Given the description of an element on the screen output the (x, y) to click on. 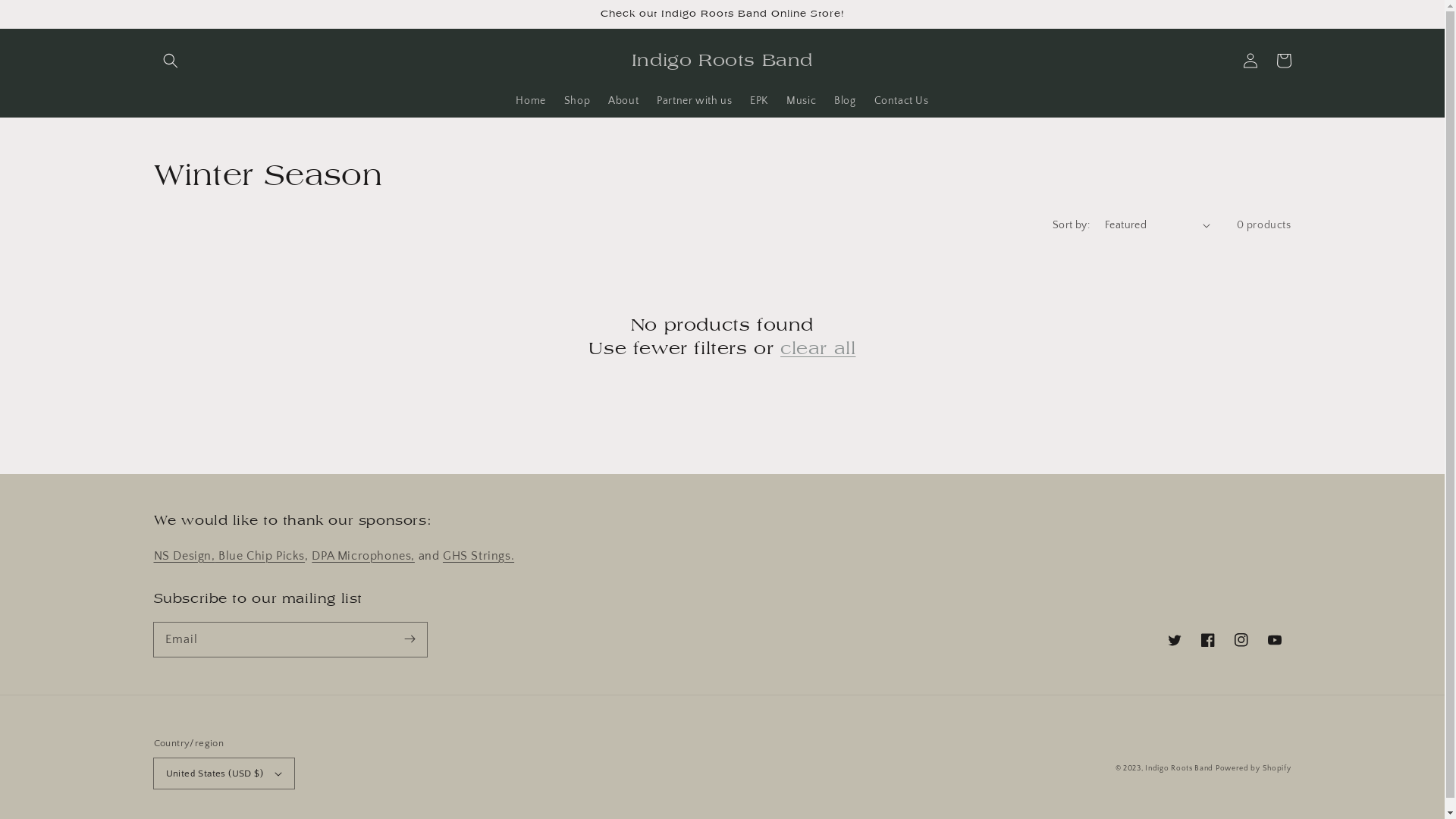
United States (USD $) Element type: text (223, 773)
Twitter Element type: text (1173, 639)
About Element type: text (623, 100)
NS Design, Element type: text (183, 555)
Partner with us Element type: text (693, 100)
Powered by Shopify Element type: text (1253, 768)
Shop Element type: text (577, 100)
Indigo Roots Band Element type: text (1180, 768)
clear all Element type: text (817, 348)
Instagram Element type: text (1240, 639)
GHS Strings. Element type: text (478, 555)
Facebook Element type: text (1206, 639)
YouTube Element type: text (1273, 639)
Cart Element type: text (1282, 60)
EPK Element type: text (758, 100)
Blog Element type: text (844, 100)
DPA Microphones, Element type: text (362, 555)
Log in Element type: text (1249, 60)
Home Element type: text (530, 100)
Blue Chip Picks Element type: text (260, 555)
Indigo Roots Band Element type: text (721, 60)
Music Element type: text (801, 100)
Contact Us Element type: text (901, 100)
